Given the description of an element on the screen output the (x, y) to click on. 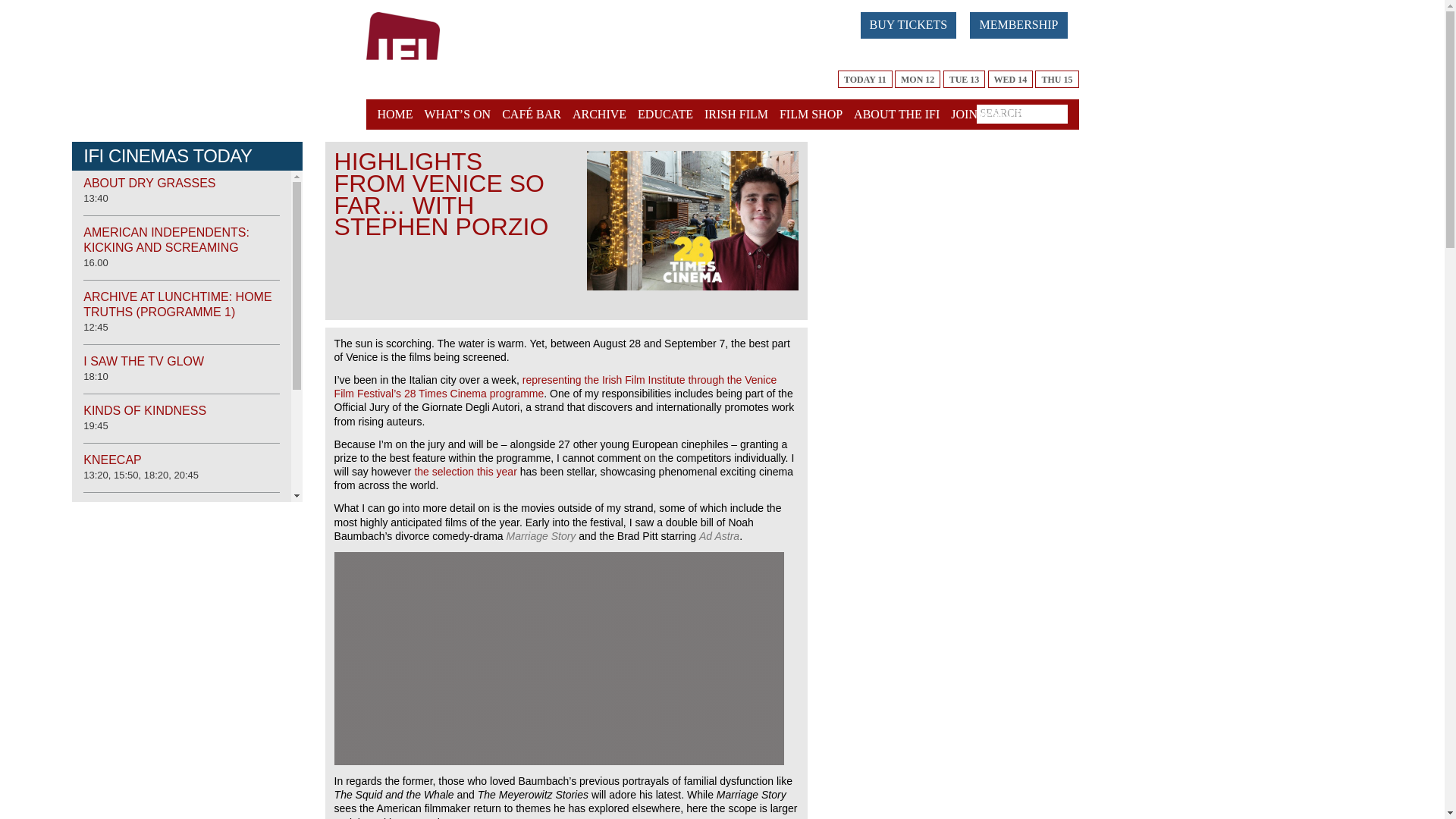
TUE 13 (964, 78)
TODAY 11 (865, 78)
ARCHIVE (598, 114)
BUY TICKETS (908, 25)
THU 15 (1056, 78)
MEMBERSHIP (1018, 25)
WED 14 (1010, 78)
BUY TICKETS (915, 23)
MEMBERSHIP (1023, 23)
IRISH FILM INSTITUTE LOGO (430, 49)
